Given the description of an element on the screen output the (x, y) to click on. 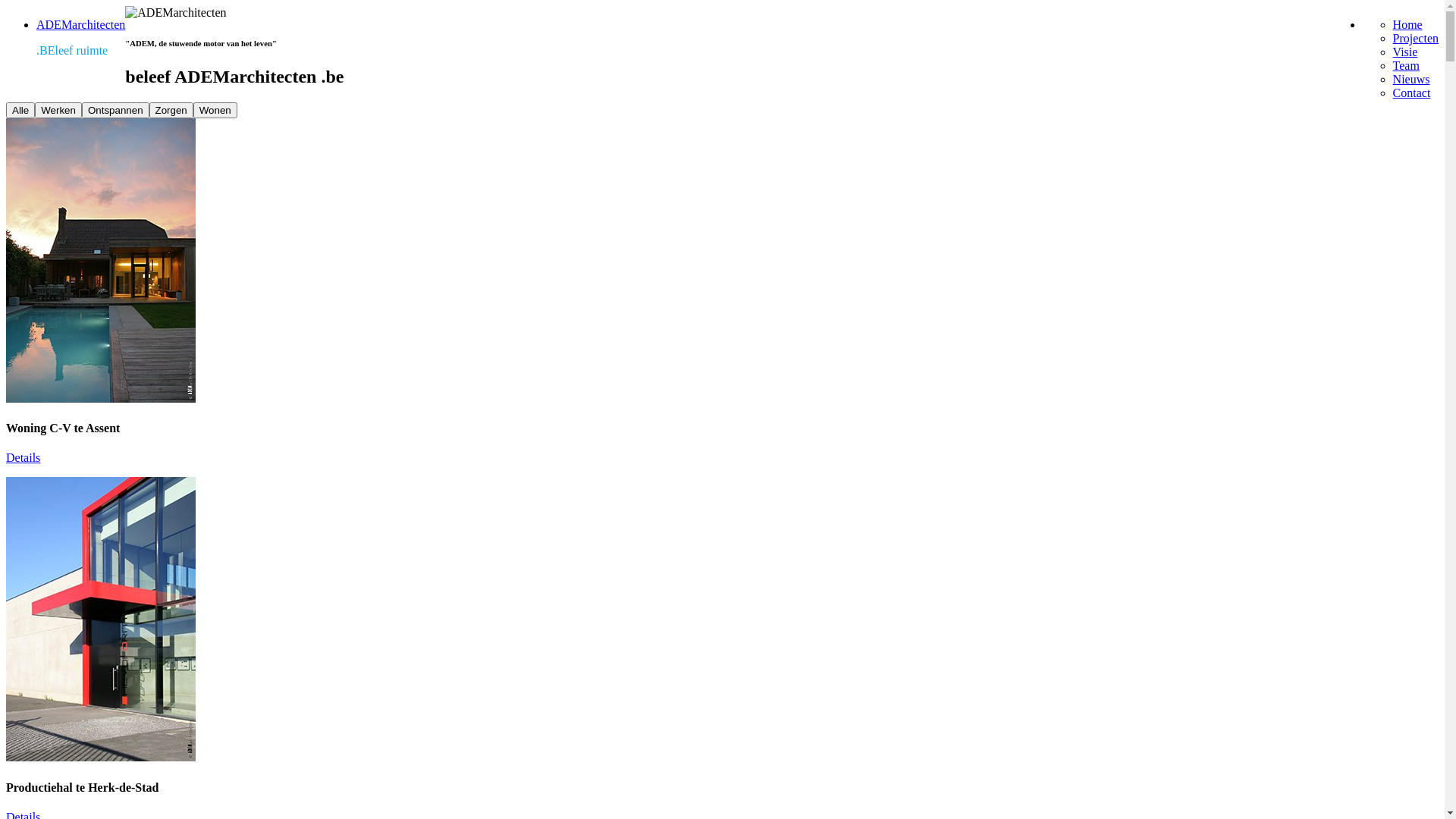
Projecten Element type: text (1415, 37)
Werken Element type: text (57, 110)
Ontspannen Element type: text (115, 110)
Visie Element type: text (1405, 51)
Contact Element type: text (1411, 92)
Zorgen Element type: text (171, 110)
Nieuws Element type: text (1411, 78)
Details Element type: text (23, 457)
Wonen Element type: text (215, 110)
ADEMarchitecten Element type: text (80, 24)
Home Element type: text (1407, 24)
Team Element type: text (1406, 65)
Alle Element type: text (20, 110)
